Given the description of an element on the screen output the (x, y) to click on. 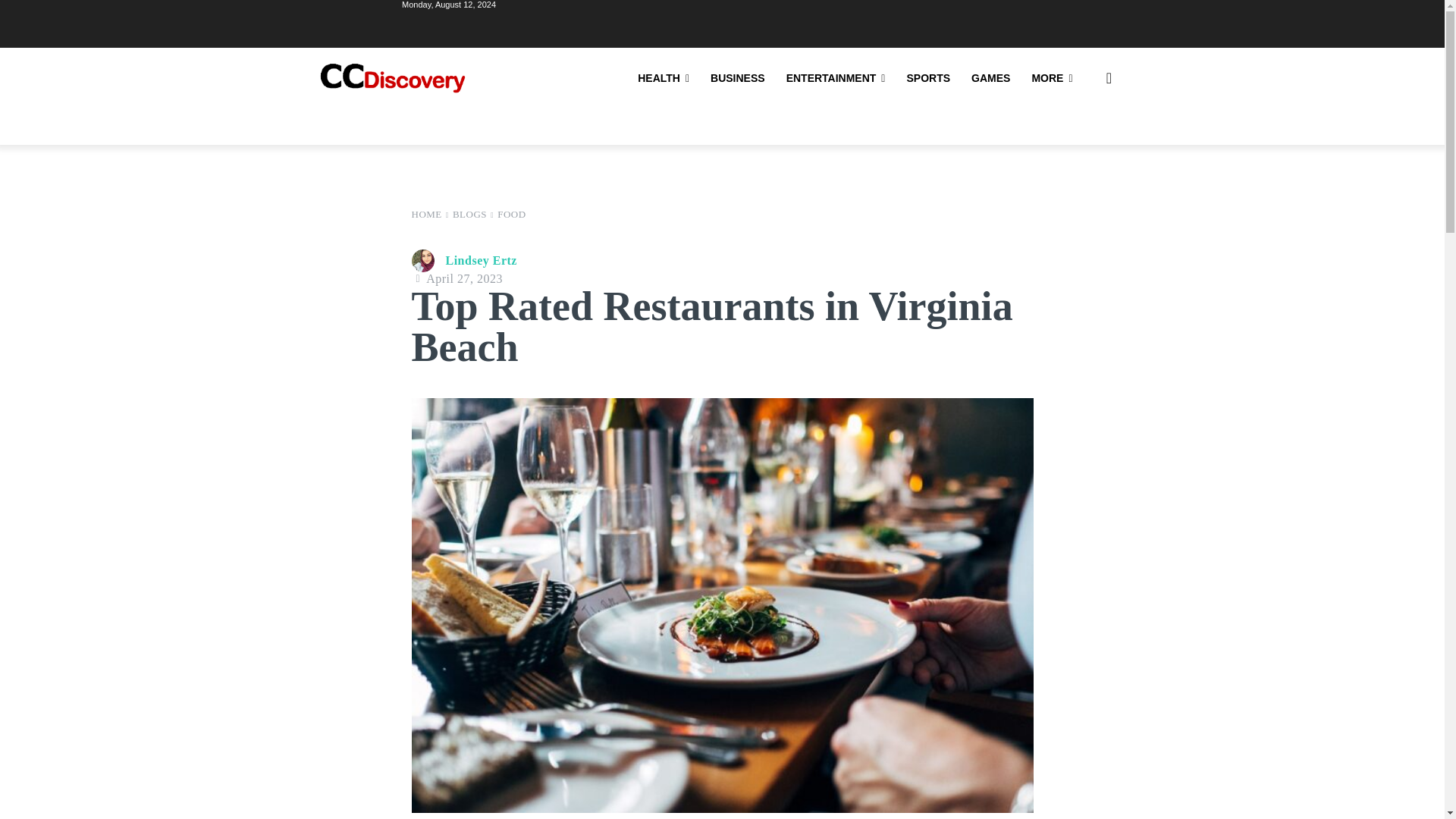
ENTERTAINMENT (836, 77)
BUSINESS (738, 77)
HEALTH (663, 77)
View all posts in Blogs (469, 214)
View all posts in Food (511, 214)
Lindsey Ertz (425, 260)
